Given the description of an element on the screen output the (x, y) to click on. 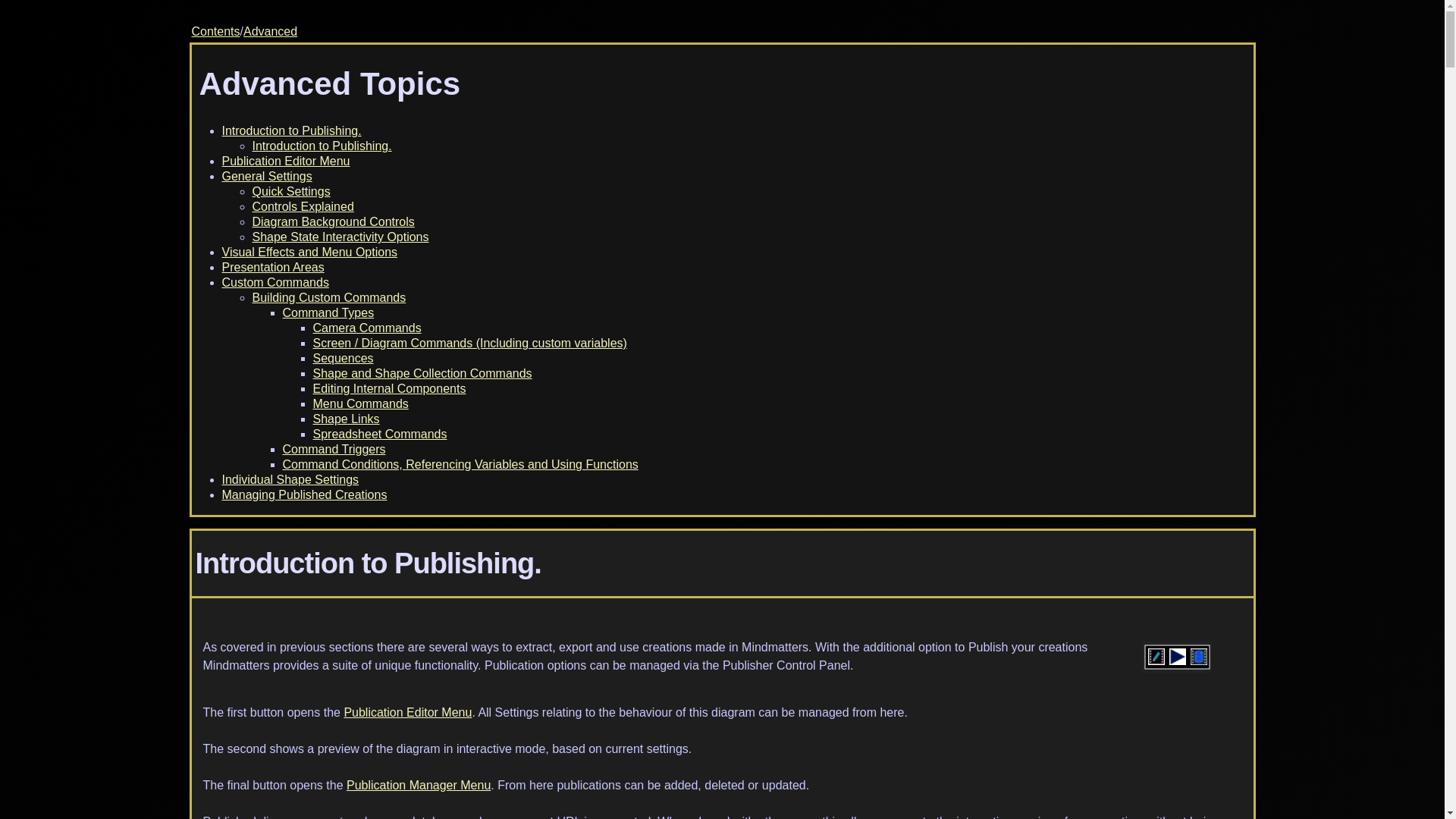
Command Types (328, 312)
Diagram Background Controls (332, 221)
Advanced (270, 31)
Shape Links (345, 418)
Menu Commands (360, 403)
Quick Settings (290, 191)
Shape and Shape Collection Commands (422, 373)
Presentation Areas (272, 267)
Command Triggers (333, 449)
Publication Editor Menu (407, 712)
Individual Shape Settings (289, 479)
Publication Editor Menu (285, 160)
Visual Effects and Menu Options (309, 251)
Controls Explained (302, 205)
Introduction to Publishing. (321, 145)
